Given the description of an element on the screen output the (x, y) to click on. 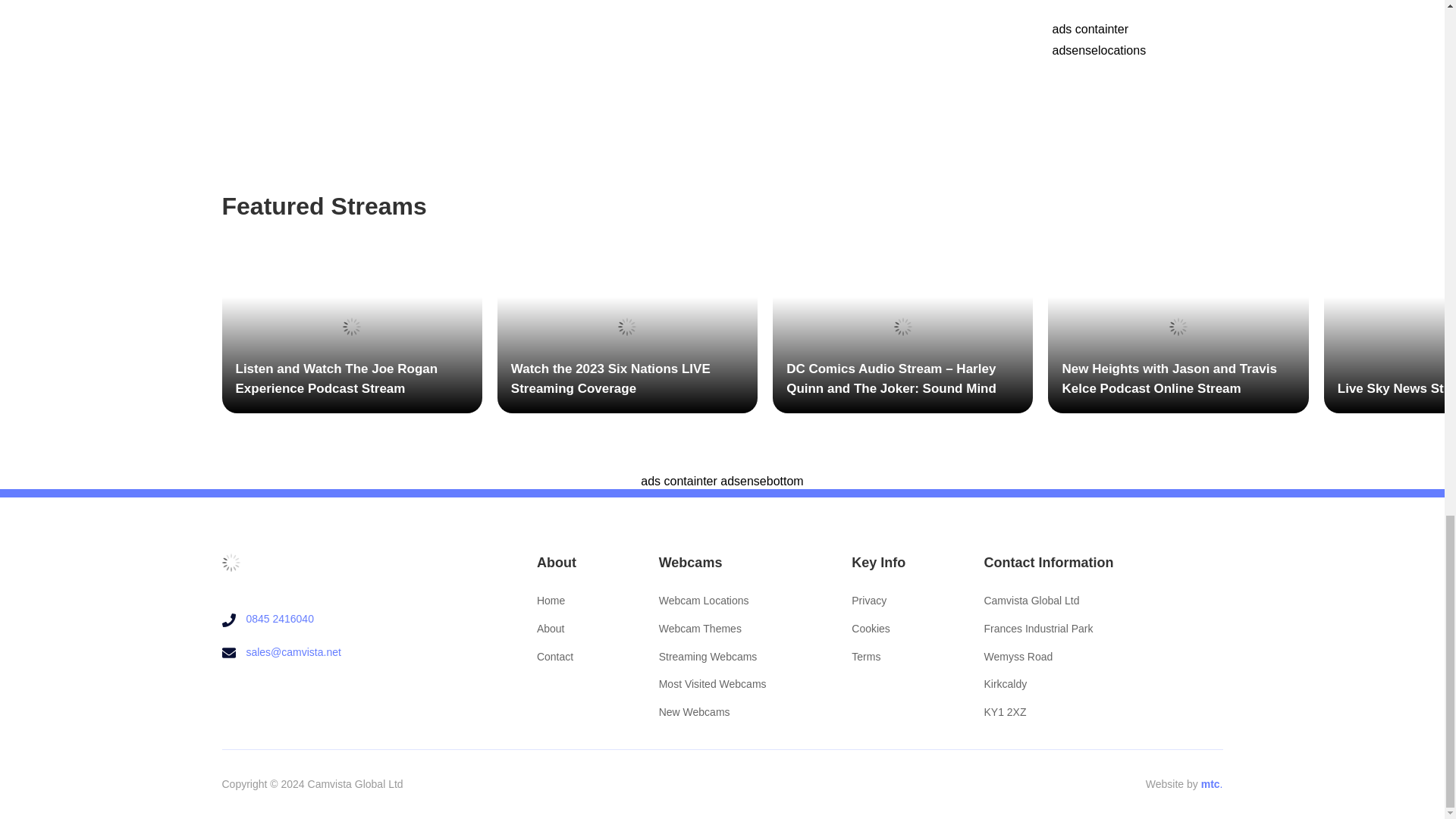
Watch the 2023 Six Nations LIVE Streaming Coverage (627, 326)
Listen and Watch The Joe Rogan Experience Podcast Stream (351, 326)
0845 2416040 (280, 618)
